Given the description of an element on the screen output the (x, y) to click on. 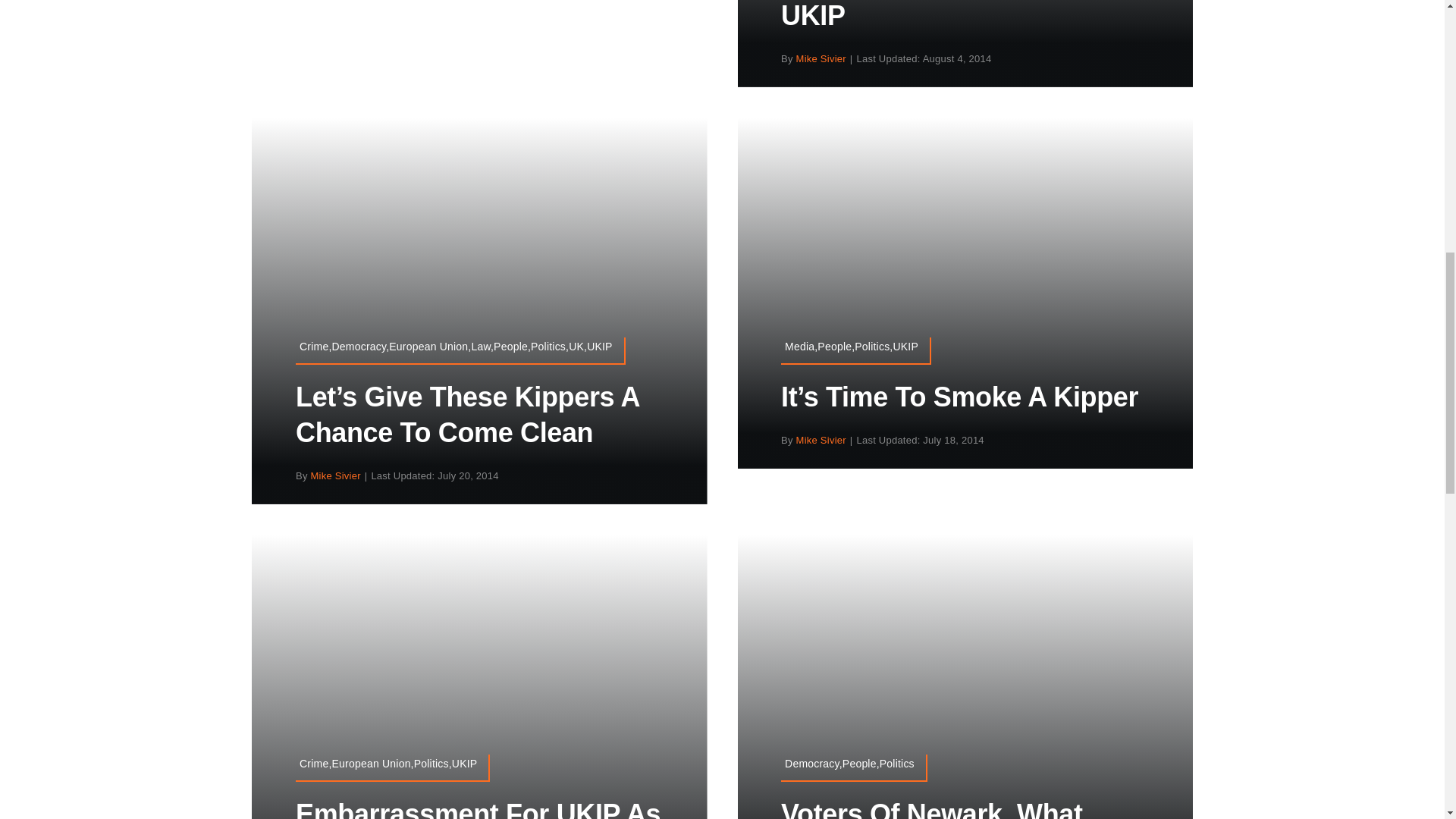
Media,People,Politics,UKIP (855, 350)
Posts by Mike Sivier (820, 58)
Mike Sivier (336, 475)
Posts by Mike Sivier (336, 475)
Mike Sivier (820, 58)
Voters Of Newark, What Were You Thinking? (931, 808)
Posts by Mike Sivier (820, 439)
Crime,European Union,Politics,UKIP (392, 768)
Democracy,People,Politics (853, 768)
Crime,Democracy,European Union,Law,People,Politics,UK,UKIP (460, 350)
Mike Sivier (820, 439)
